Given the description of an element on the screen output the (x, y) to click on. 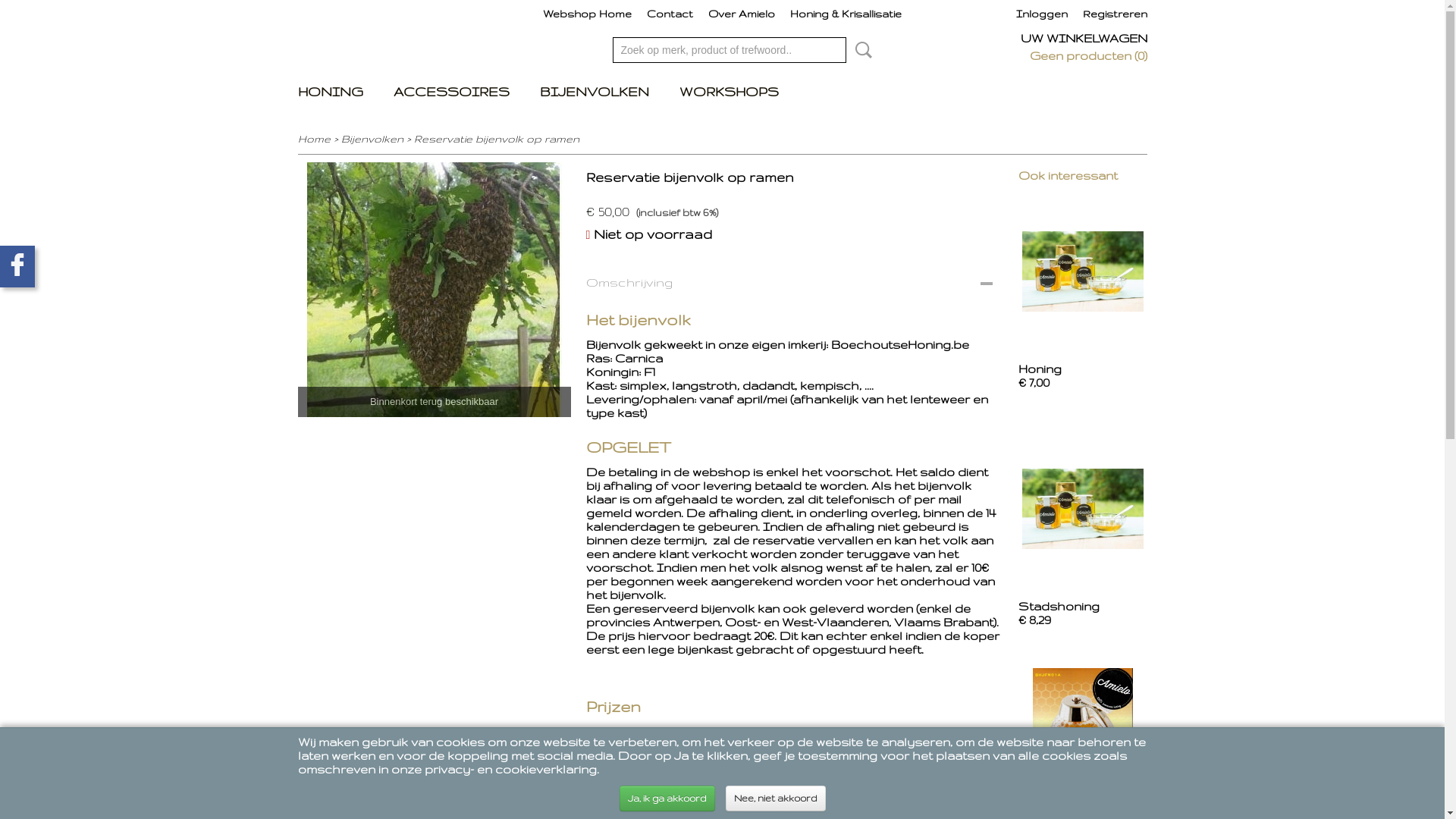
Honing Element type: hover (1082, 270)
UW WINKELWAGEN Element type: text (1083, 37)
Ja, ik ga akkoord Element type: text (666, 798)
Registreren Element type: text (1114, 13)
BIJENVOLKEN Element type: text (594, 91)
Reservatie bijenvolk op ramen Element type: text (496, 138)
Zwerm 0 Element type: hover (433, 289)
Over Amielo Element type: text (741, 13)
Honing & Krisallisatie Element type: text (845, 13)
Nee, niet akkoord Element type: text (774, 798)
ACCESSOIRES Element type: text (450, 91)
Webshop Home Element type: text (586, 13)
Inloggen Element type: text (1041, 13)
Bijenvolken Element type: text (372, 138)
Stadshoning Element type: hover (1082, 508)
Home Element type: text (313, 138)
Honing Element type: text (1038, 368)
WORKSHOPS Element type: text (728, 91)
Stadshoning Element type: text (1057, 605)
Deel deze pagina op Facebook Element type: hover (17, 266)
HONING Element type: text (329, 91)
Contact Element type: text (669, 13)
Zoeken Element type: text (860, 49)
